Given the description of an element on the screen output the (x, y) to click on. 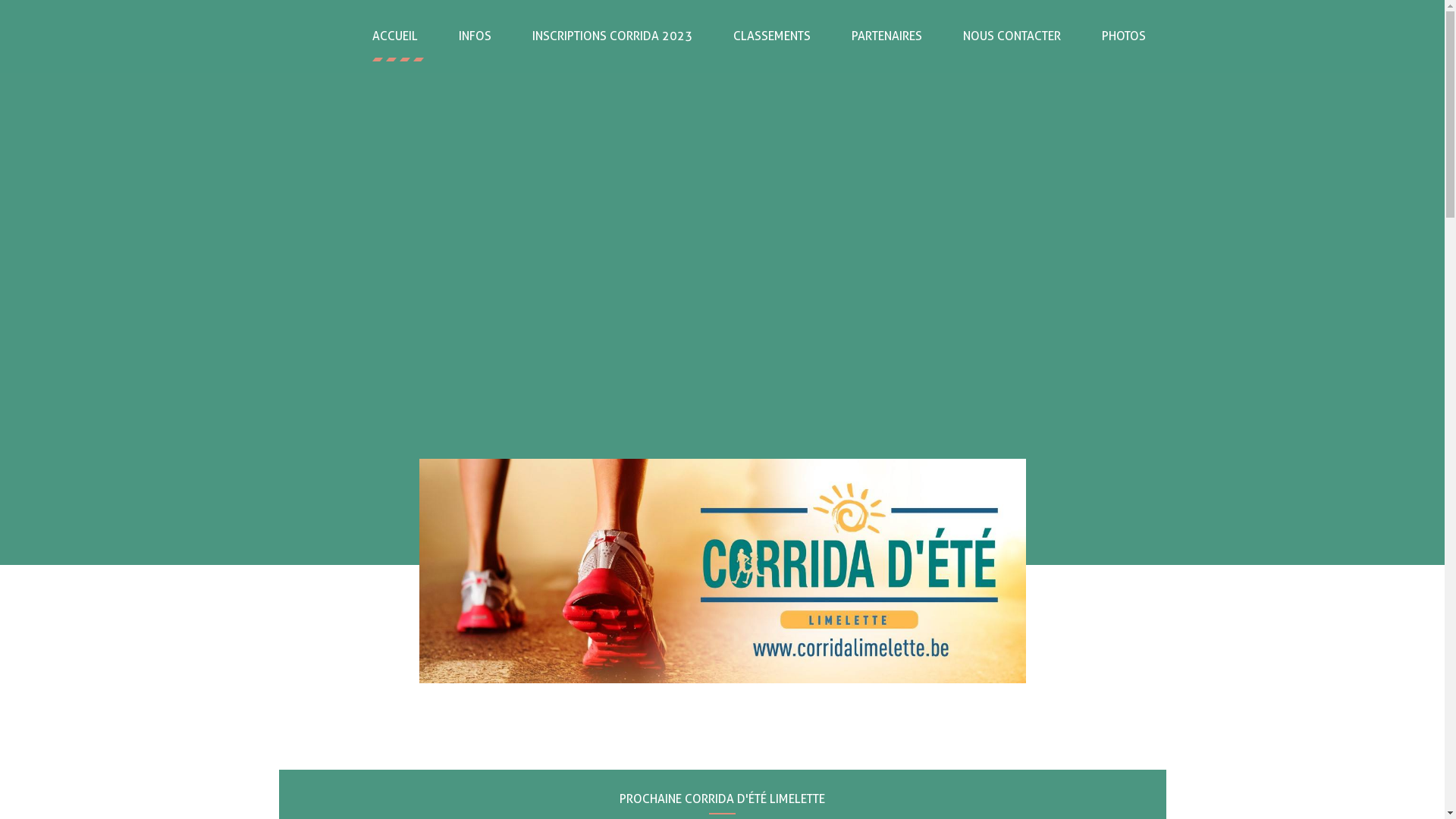
PARTENAIRES Element type: text (886, 36)
CLASSEMENTS Element type: text (771, 36)
INSCRIPTIONS CORRIDA 2023 Element type: text (611, 36)
NOUS CONTACTER Element type: text (1010, 36)
ACCUEIL Element type: text (394, 36)
INFOS Element type: text (474, 36)
PHOTOS Element type: text (1123, 36)
